Given the description of an element on the screen output the (x, y) to click on. 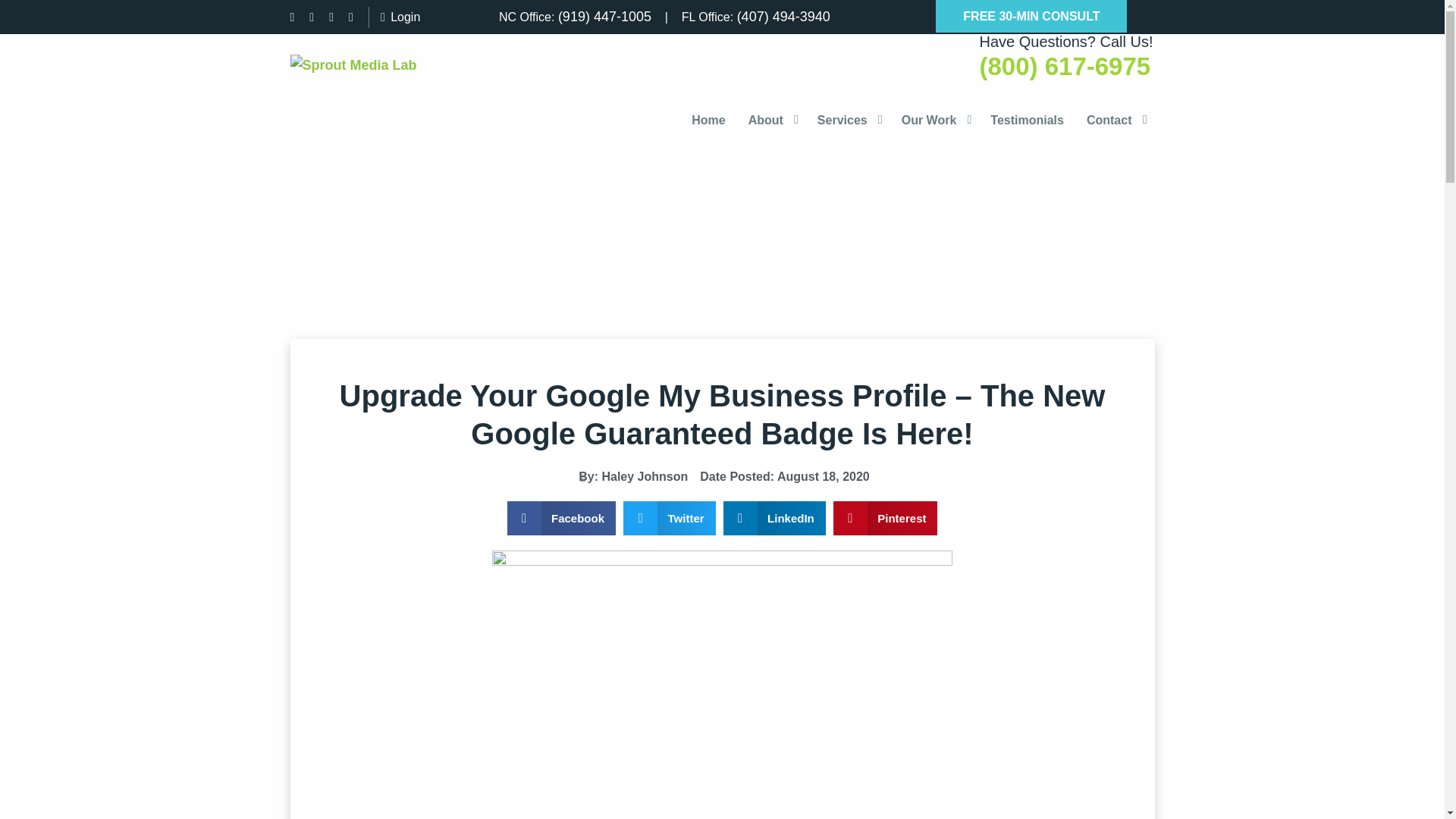
Home (707, 119)
About (771, 119)
Login (394, 16)
Services (847, 119)
FREE 30-MIN CONSULT (1031, 16)
